Given the description of an element on the screen output the (x, y) to click on. 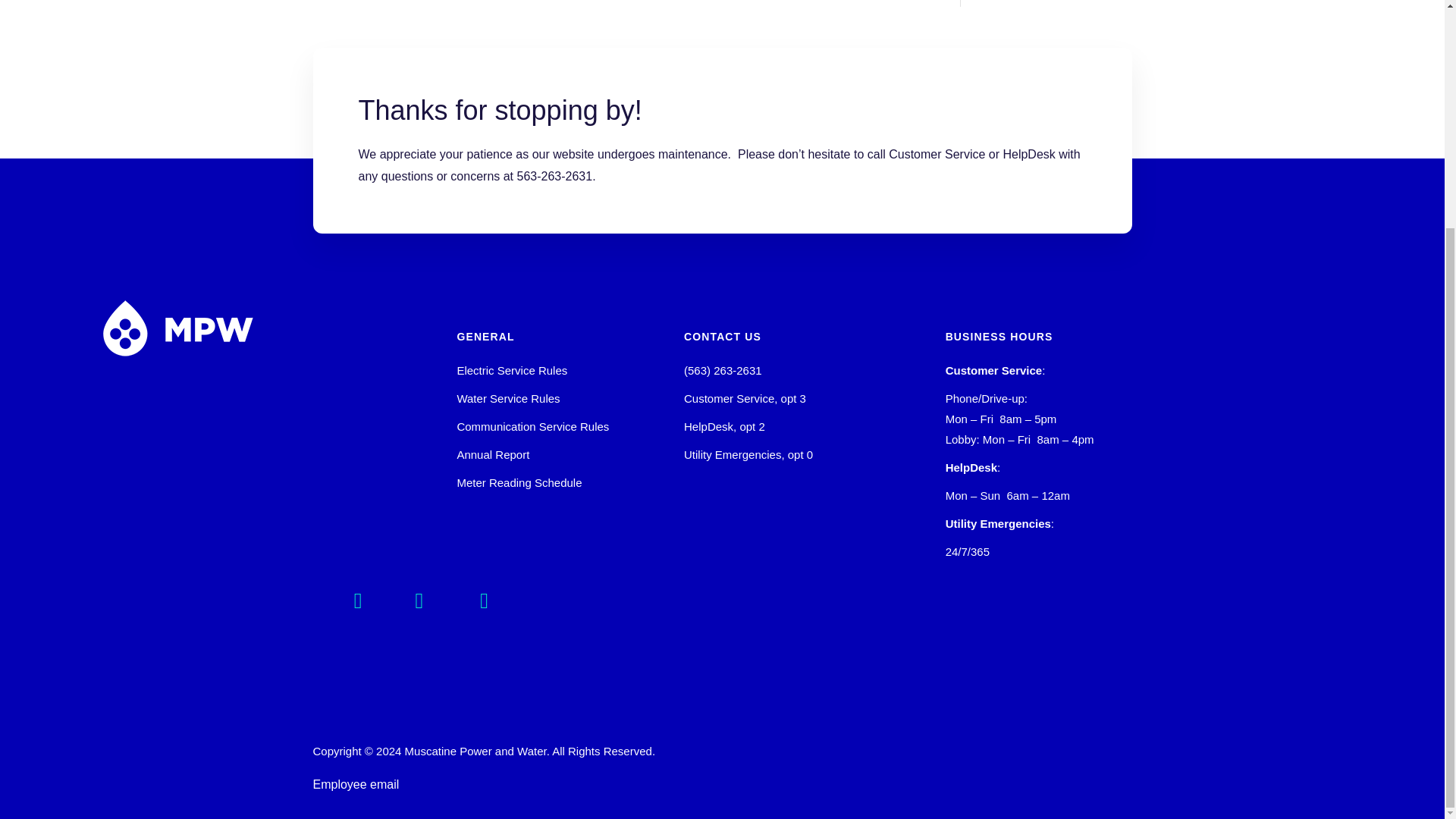
mpw-horizontal-white-logo-footer (178, 328)
Electric Service Rules (512, 369)
Communication Service Rules (532, 426)
MPW Annual Report (493, 454)
Water Service Rules (508, 398)
